Given the description of an element on the screen output the (x, y) to click on. 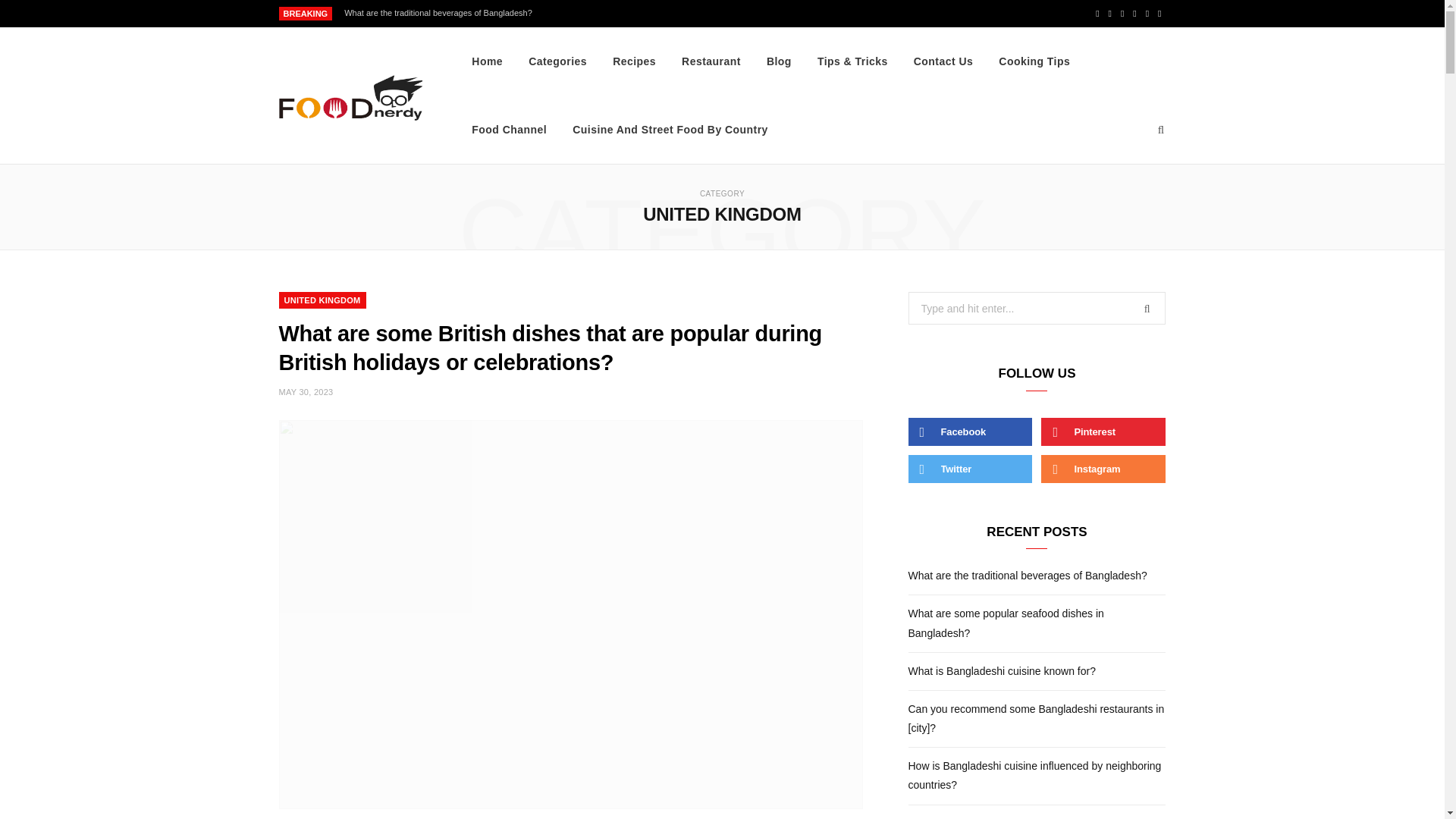
Categories (557, 61)
Restaurant (710, 61)
Cooking Tips (1034, 61)
MAY 30, 2023 (306, 391)
FoodNerdy Recipes Management System (351, 96)
Recipes (633, 61)
Food Channel (508, 129)
What are the traditional beverages of Bangladesh? (441, 12)
Contact Us (943, 61)
